Given the description of an element on the screen output the (x, y) to click on. 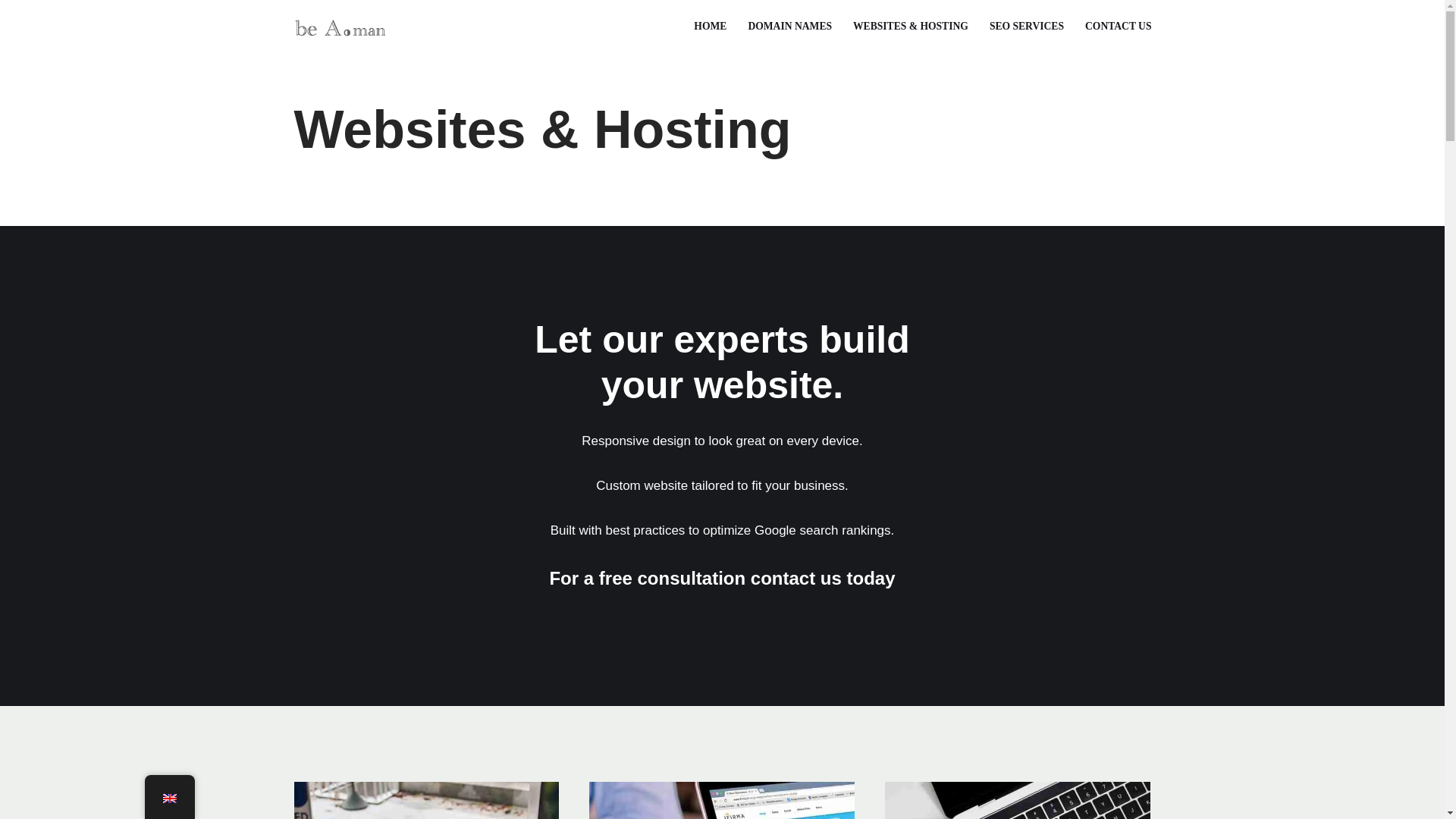
HOME (710, 26)
CONTACT US (1117, 26)
Skip to content (11, 31)
SEO SERVICES (1027, 26)
DOMAIN NAMES (789, 26)
